Given the description of an element on the screen output the (x, y) to click on. 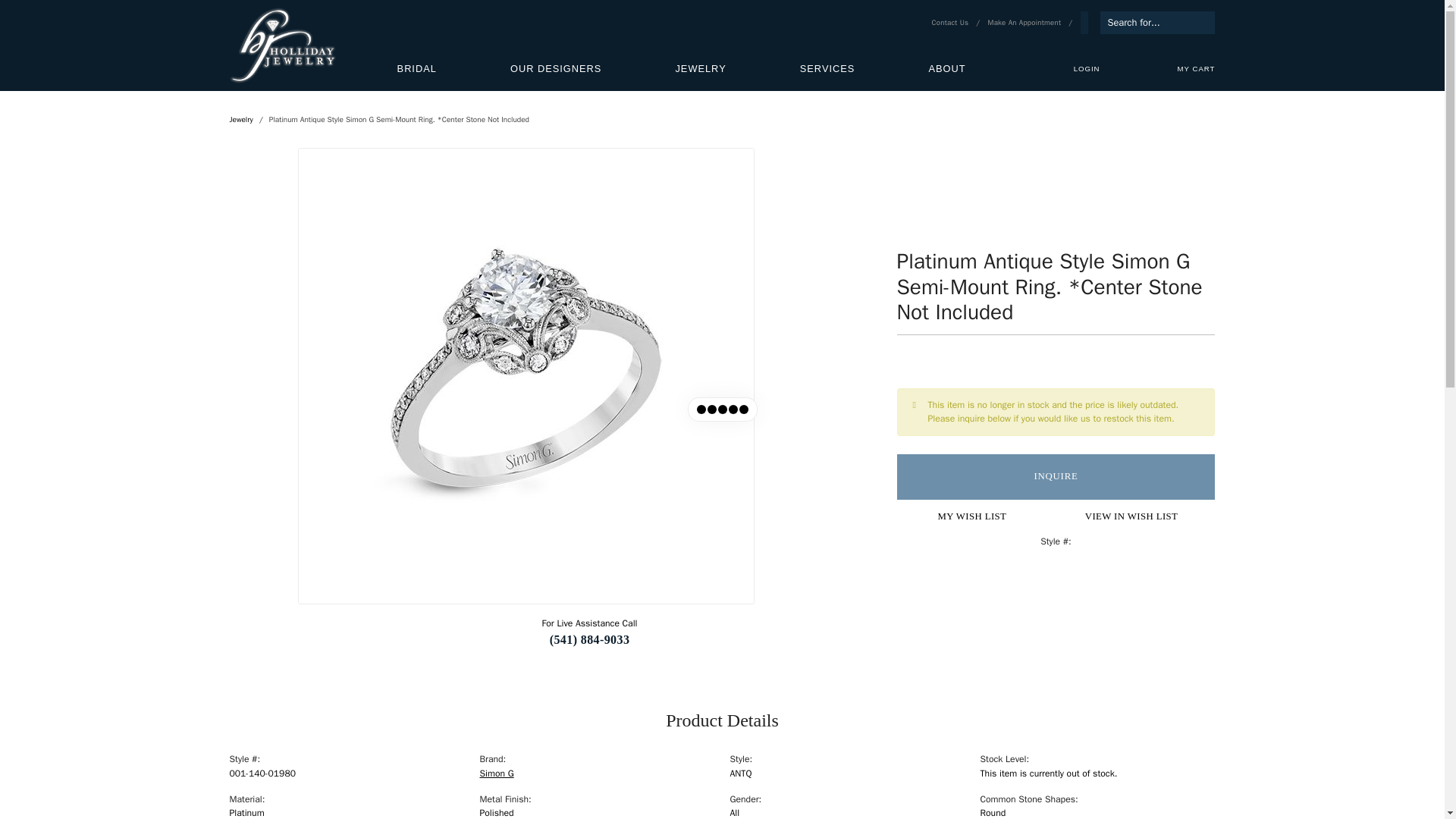
OUR DESIGNERS (556, 68)
BRIDAL (416, 68)
JEWELRY (700, 68)
Skip to main content (1026, 22)
